Given the description of an element on the screen output the (x, y) to click on. 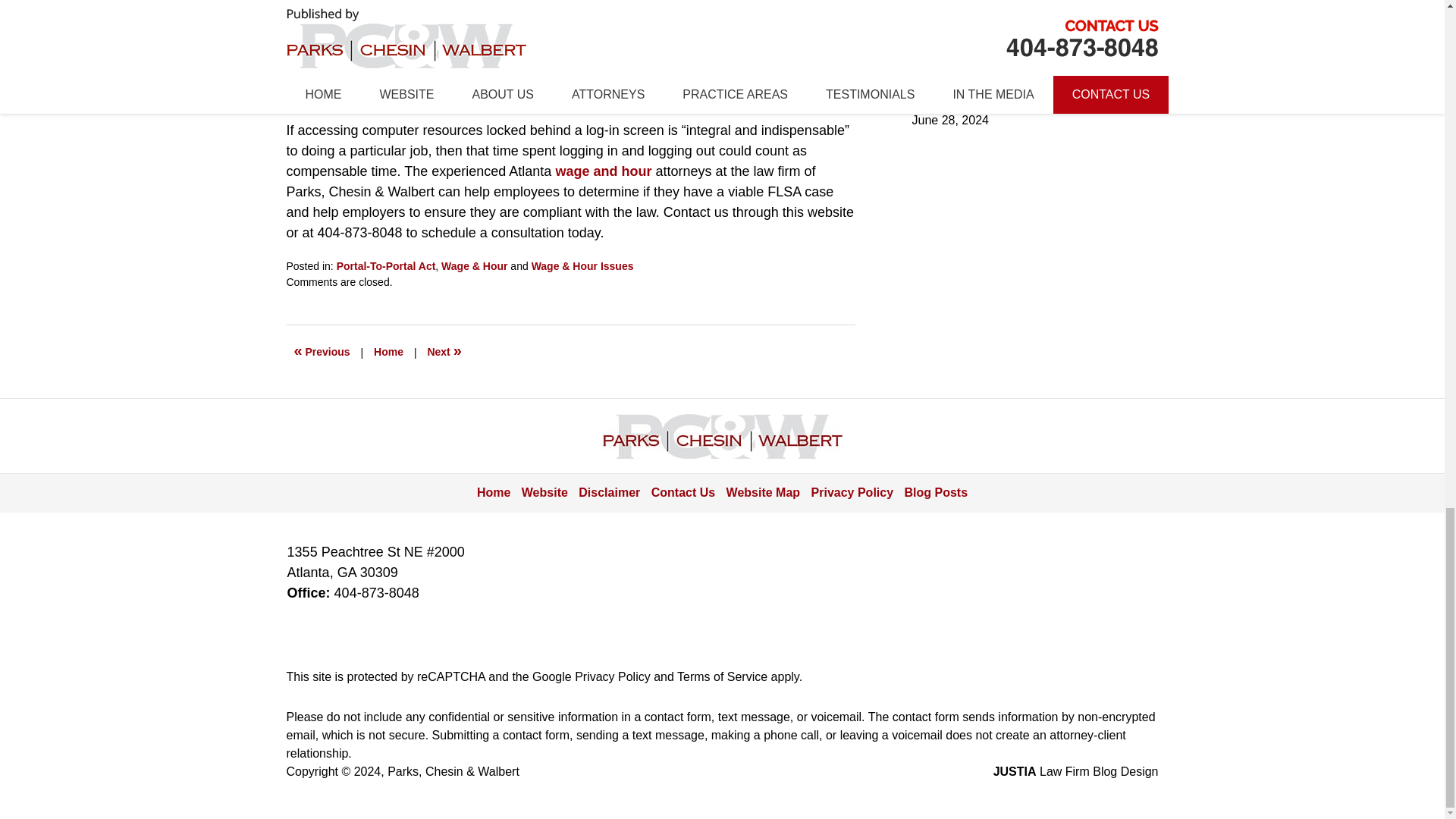
wage and hour (602, 171)
Home (388, 352)
View all posts in Portal-To-Portal Act (385, 265)
Portal-To-Portal Act (385, 265)
